Given the description of an element on the screen output the (x, y) to click on. 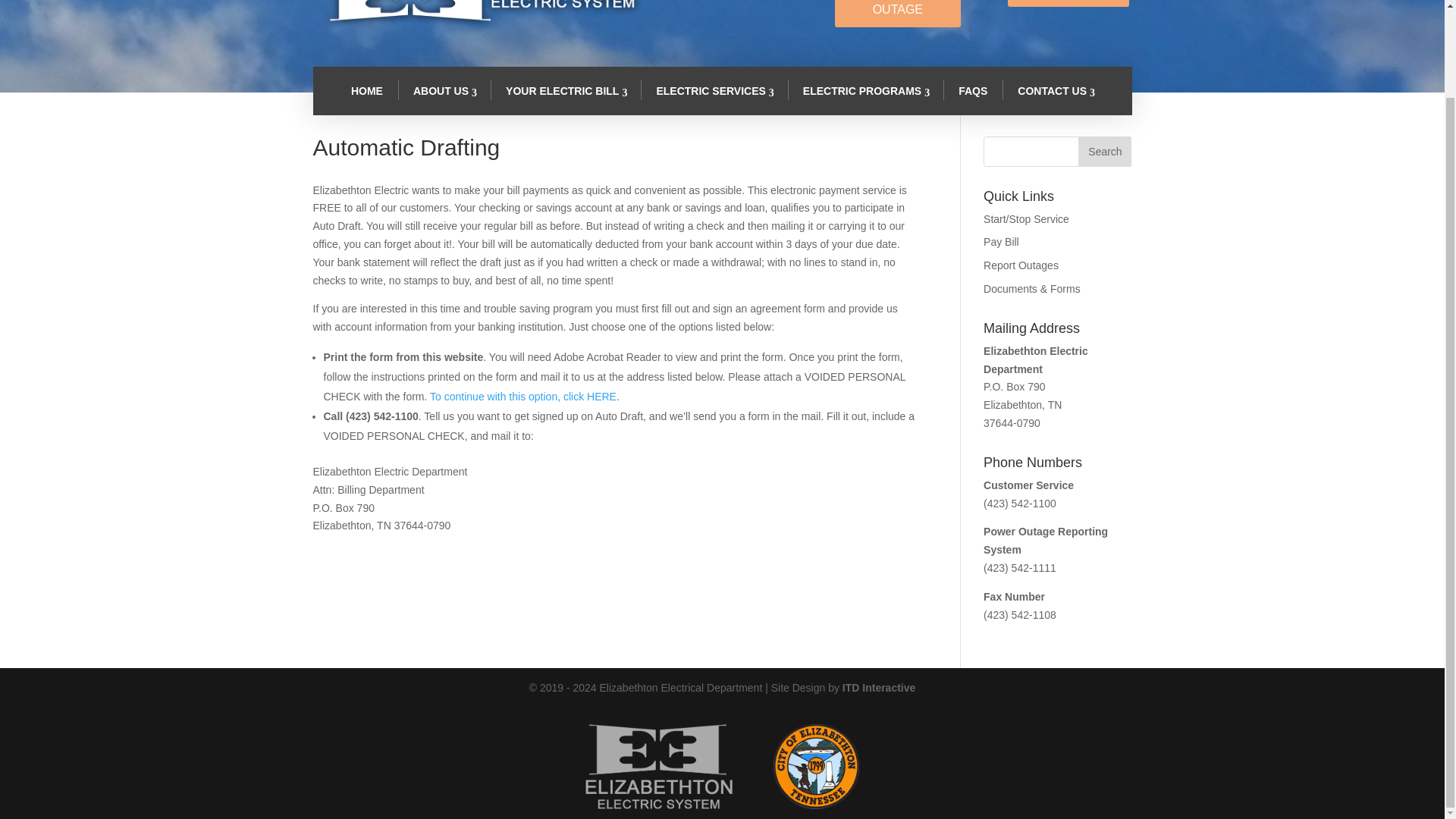
Search (1104, 151)
